Given the description of an element on the screen output the (x, y) to click on. 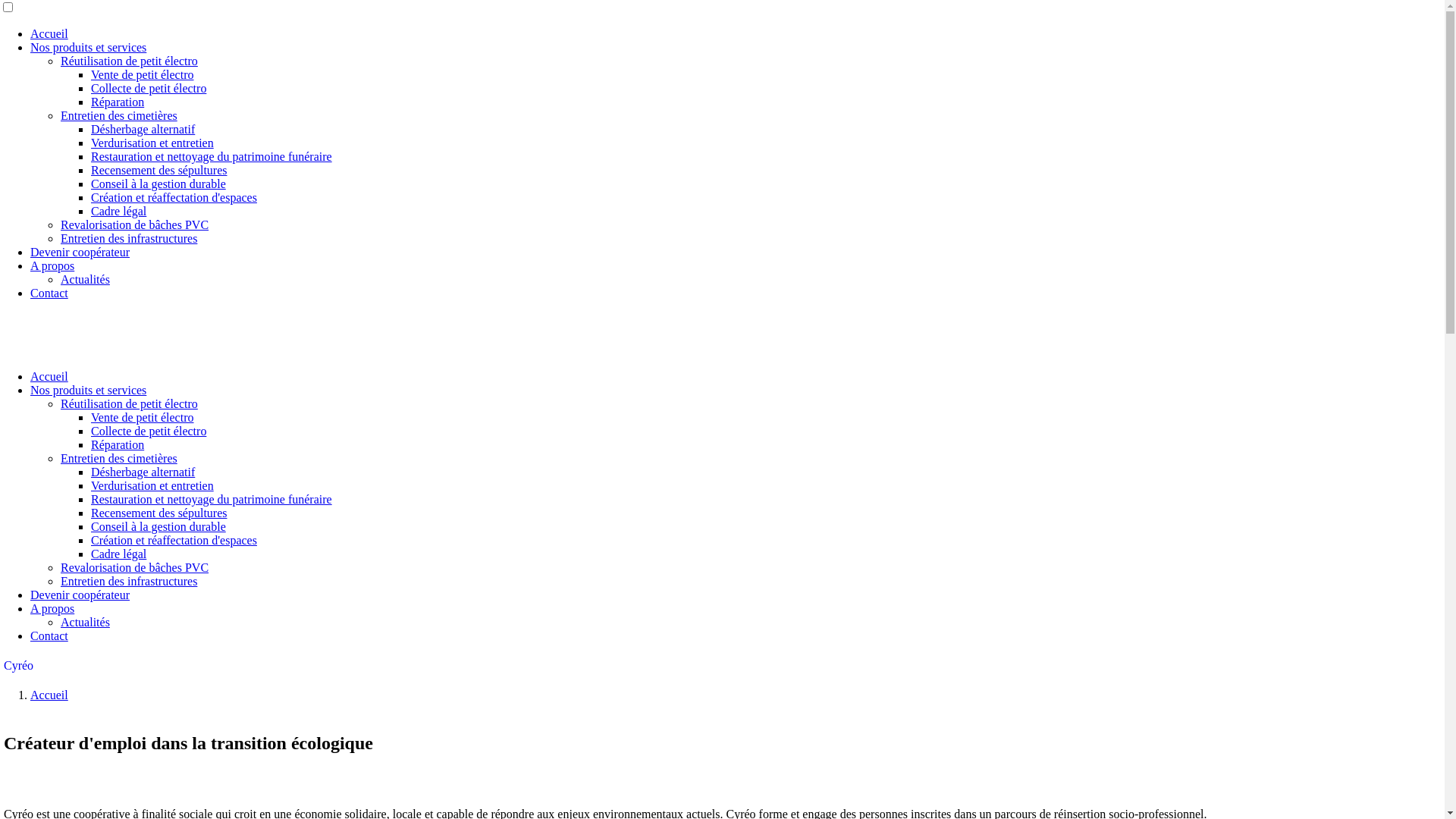
Entretien des infrastructures Element type: text (128, 580)
Contact Element type: text (49, 635)
Verdurisation et entretien Element type: text (152, 485)
A propos Element type: text (52, 265)
Nos produits et services Element type: text (88, 46)
Accueil Element type: text (49, 376)
Contact Element type: text (49, 292)
Verdurisation et entretien Element type: text (152, 142)
Nos produits et services Element type: text (88, 389)
A propos Element type: text (52, 608)
Accueil Element type: text (49, 694)
Entretien des infrastructures Element type: text (128, 238)
Accueil Element type: text (49, 33)
